Given the description of an element on the screen output the (x, y) to click on. 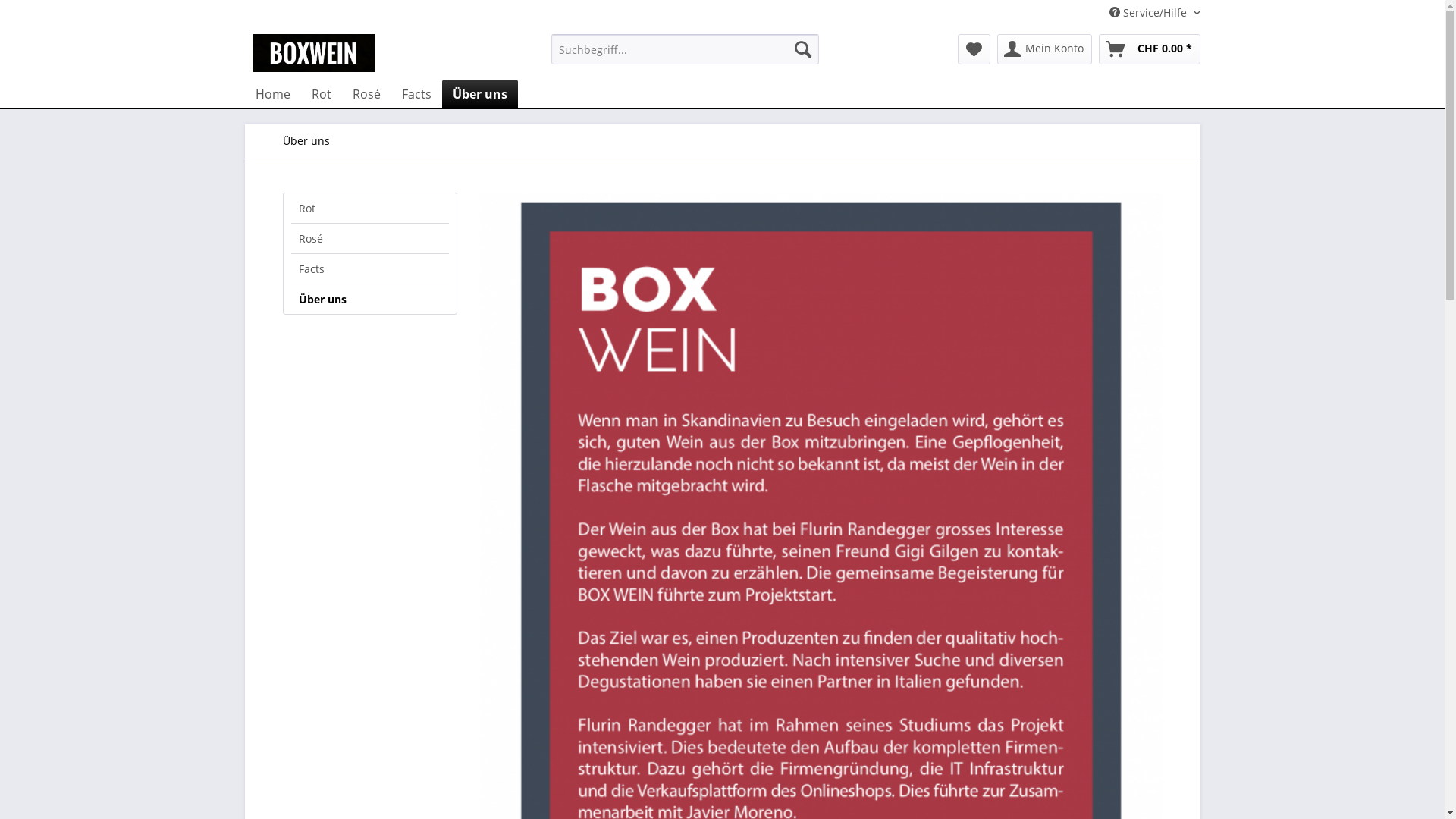
CHF 0.00 * Element type: text (1148, 49)
Merkzettel Element type: hover (973, 49)
Rot Element type: text (369, 207)
Mein Konto Element type: text (1043, 49)
box-wein.ch - zur Startseite wechseln Element type: hover (312, 53)
Facts Element type: text (369, 268)
Rot Element type: text (320, 93)
Facts Element type: text (416, 93)
Home Element type: text (272, 93)
